Given the description of an element on the screen output the (x, y) to click on. 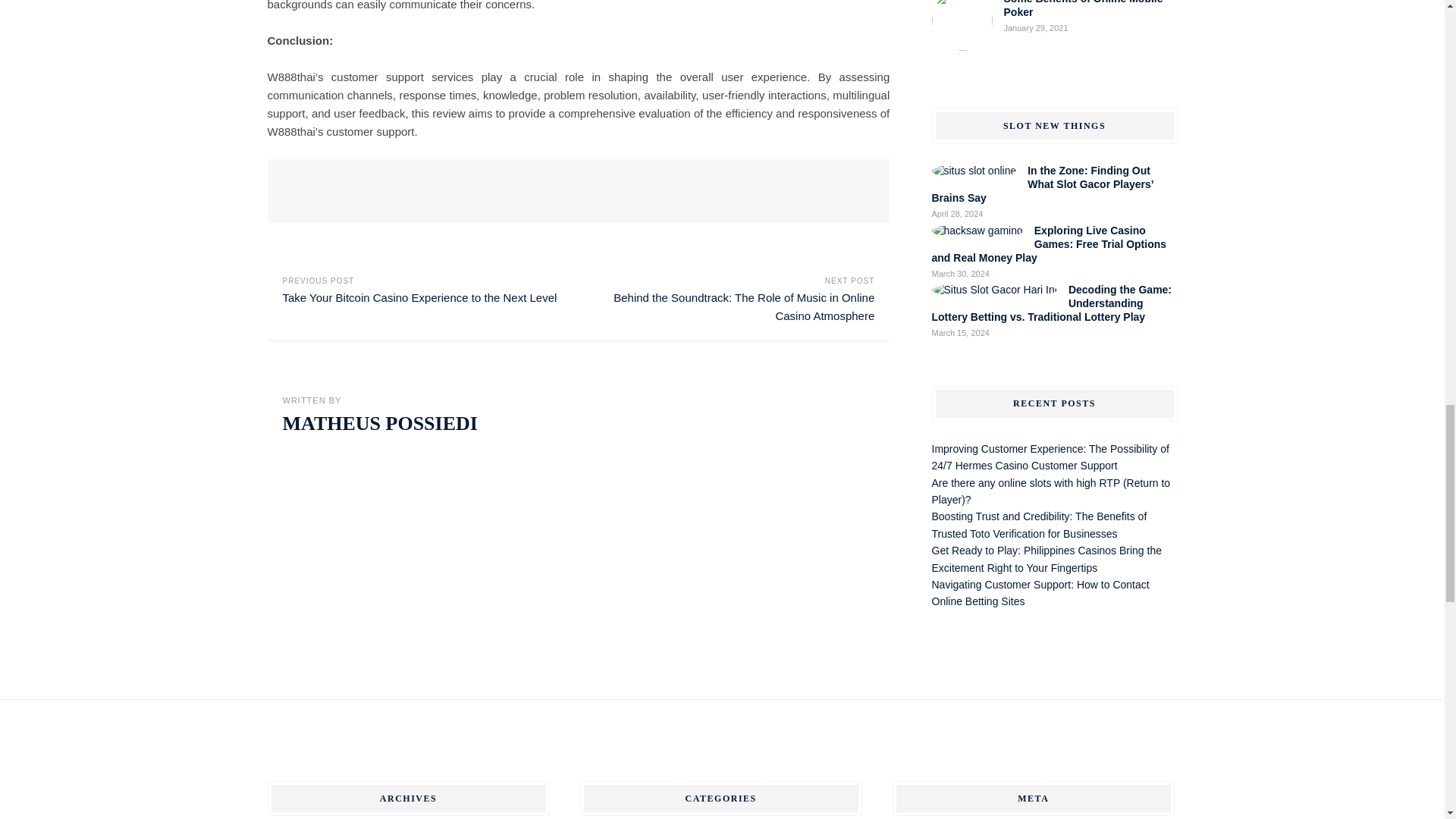
MATHEUS POSSIEDI (379, 423)
Take Your Bitcoin Casino Experience to the Next Level (419, 297)
Some Benefits of Online Mobile Poker (1083, 9)
